Given the description of an element on the screen output the (x, y) to click on. 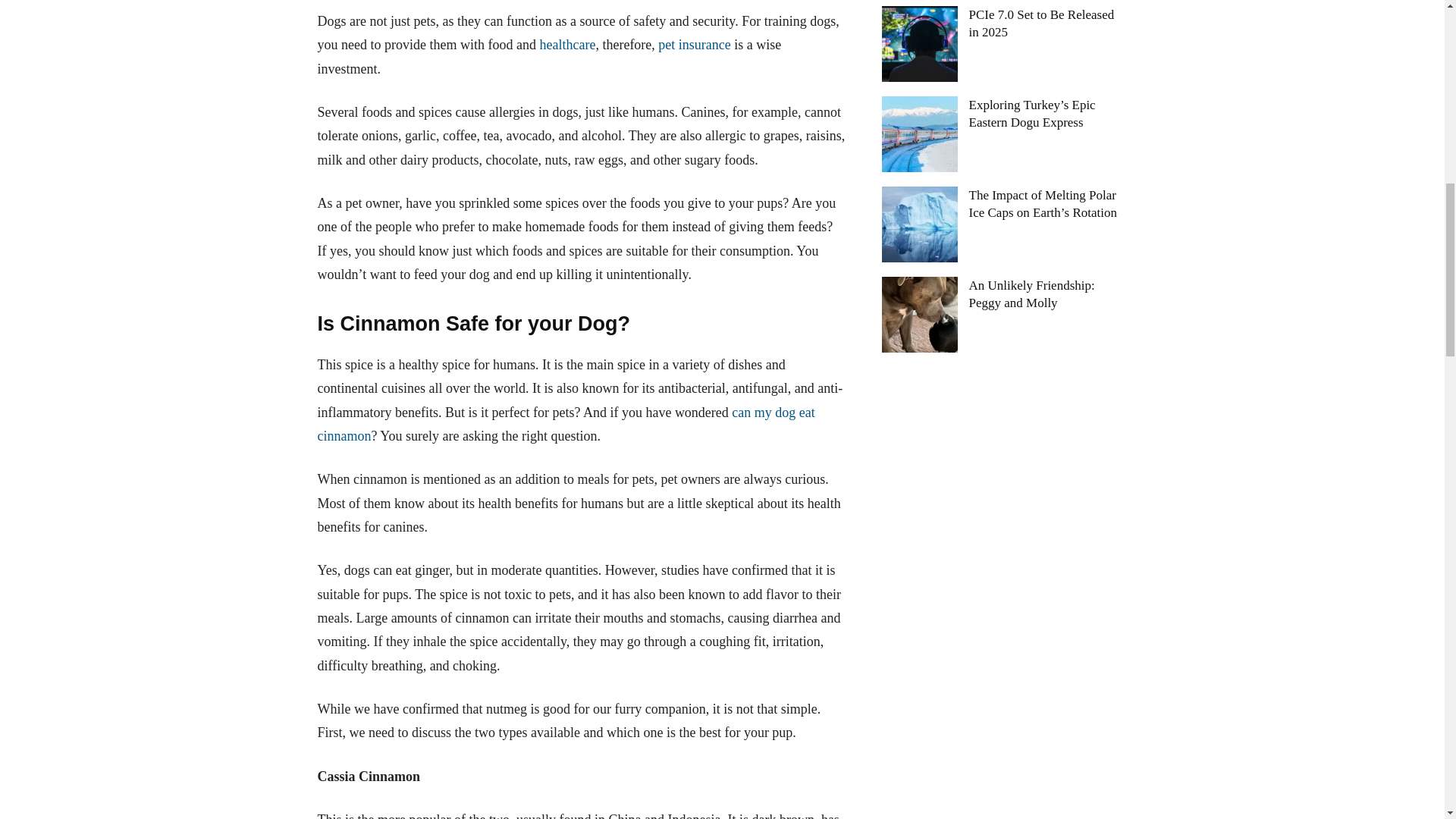
pet insurance (692, 44)
can my dog eat cinnamon (565, 423)
healthcare (566, 44)
